Given the description of an element on the screen output the (x, y) to click on. 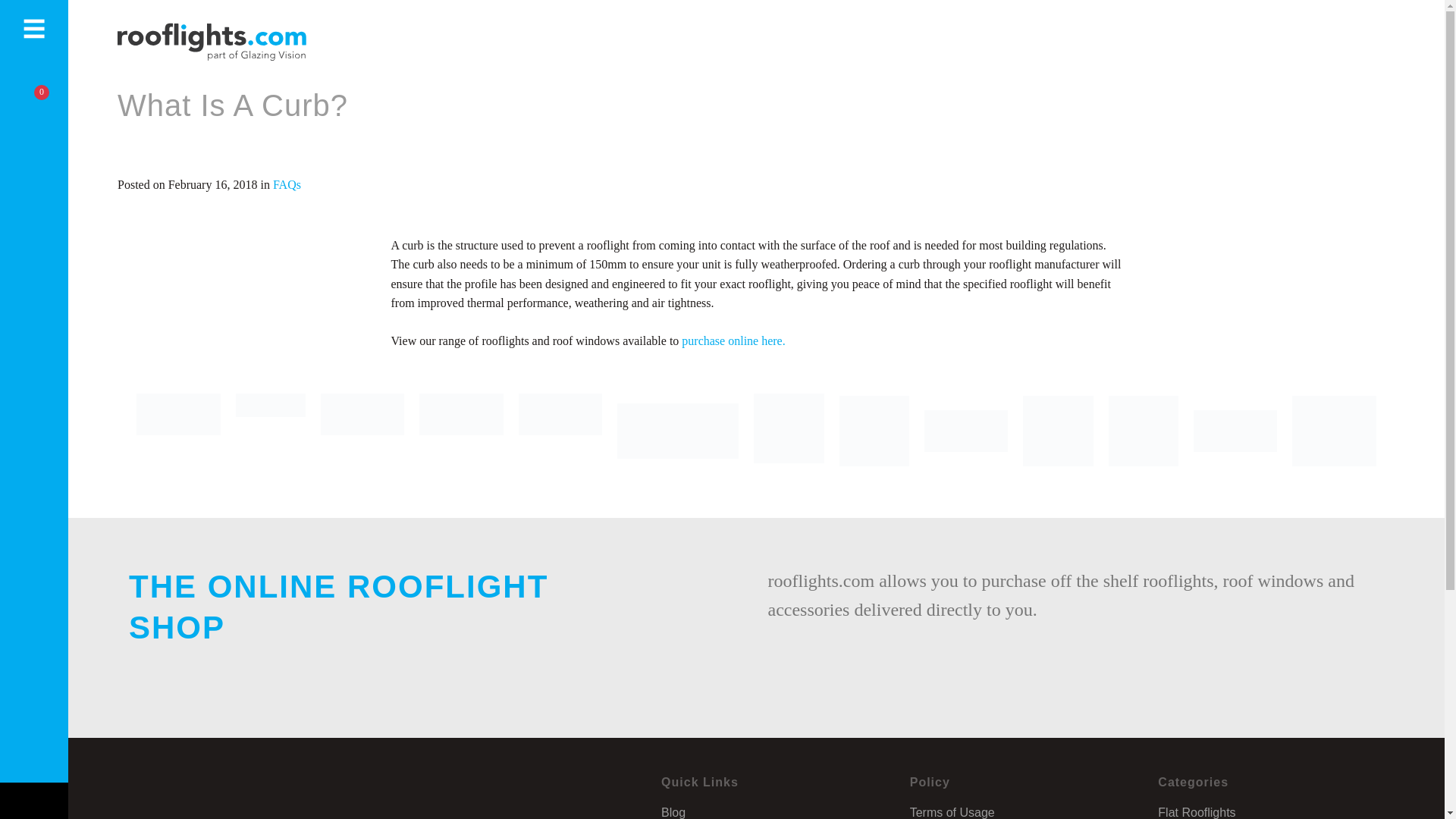
Glazing Vision Logo (178, 431)
Sona Logo (560, 431)
Korniche Logo (362, 431)
Fakro Logo (461, 431)
Velux Logo (270, 431)
CRASH Charity (789, 431)
